Given the description of an element on the screen output the (x, y) to click on. 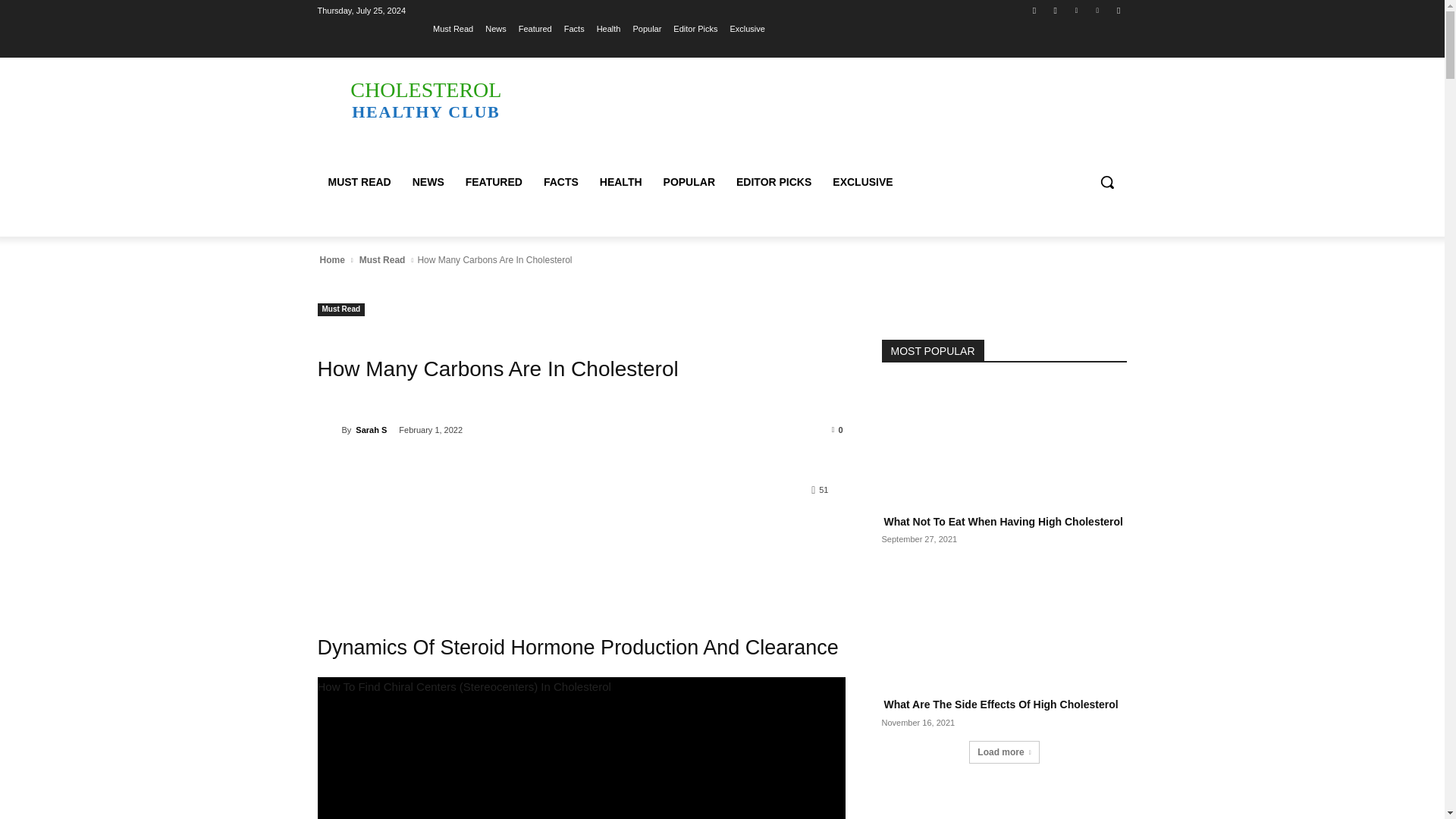
View all posts in Must Read (381, 259)
POPULAR (688, 181)
Vimeo (1097, 9)
Facts (574, 28)
News (495, 28)
Twitter (1075, 9)
HEALTH (620, 181)
Editor Picks (694, 28)
Popular (646, 28)
NEWS (427, 181)
Health (608, 28)
Instagram (1055, 9)
MUST READ (359, 181)
Youtube (1117, 9)
Exclusive (746, 28)
